Given the description of an element on the screen output the (x, y) to click on. 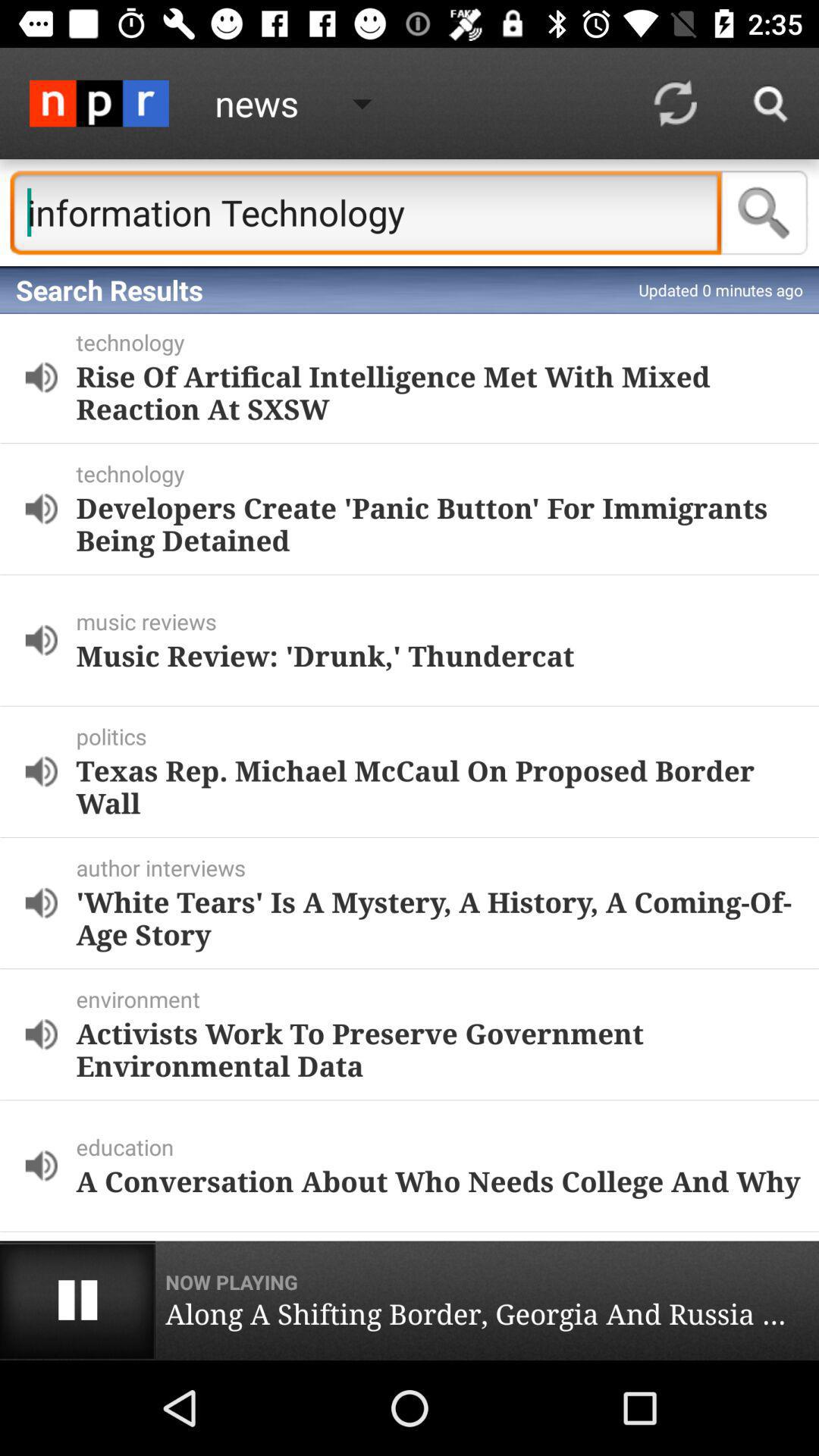
press the item above author interviews item (438, 786)
